Given the description of an element on the screen output the (x, y) to click on. 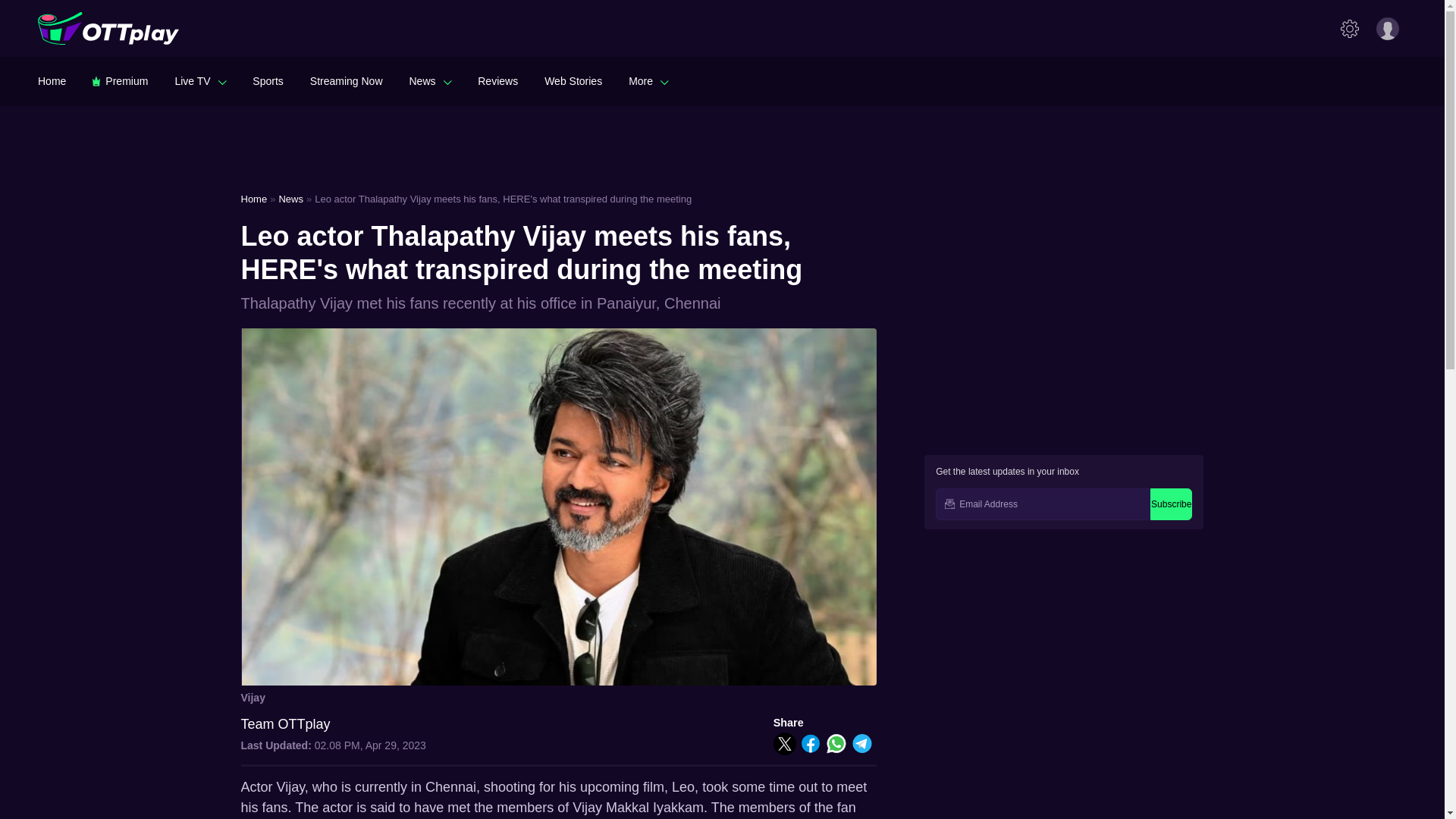
Web Stories (573, 80)
News (430, 80)
Live TV (199, 80)
Premium (120, 80)
Streaming Now (346, 80)
